Given the description of an element on the screen output the (x, y) to click on. 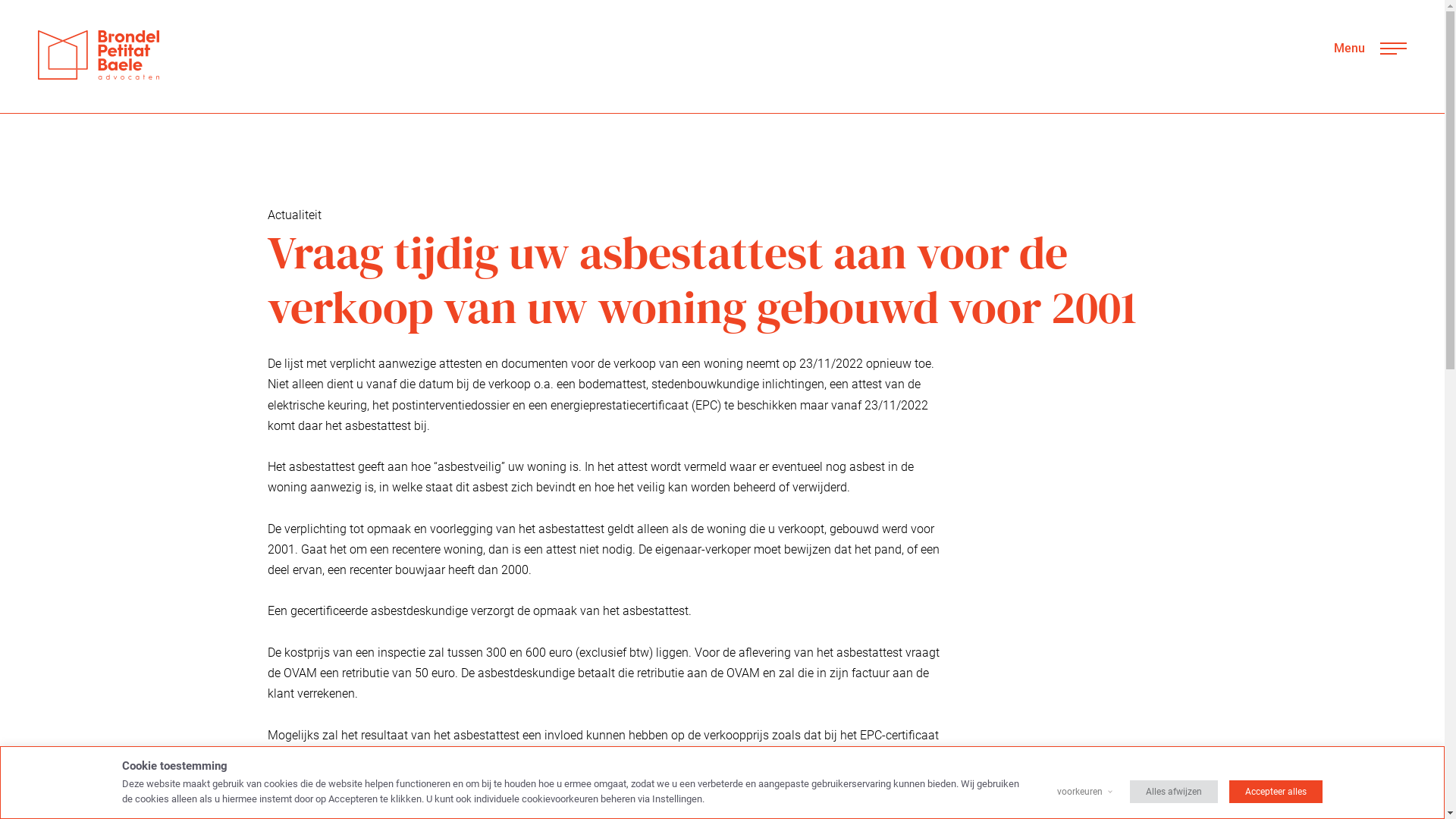
voorkeuren Element type: text (1079, 791)
Alles afwijzen Element type: text (1173, 791)
Menu Element type: text (1369, 47)
Accepteer alles Element type: text (1275, 791)
